Given the description of an element on the screen output the (x, y) to click on. 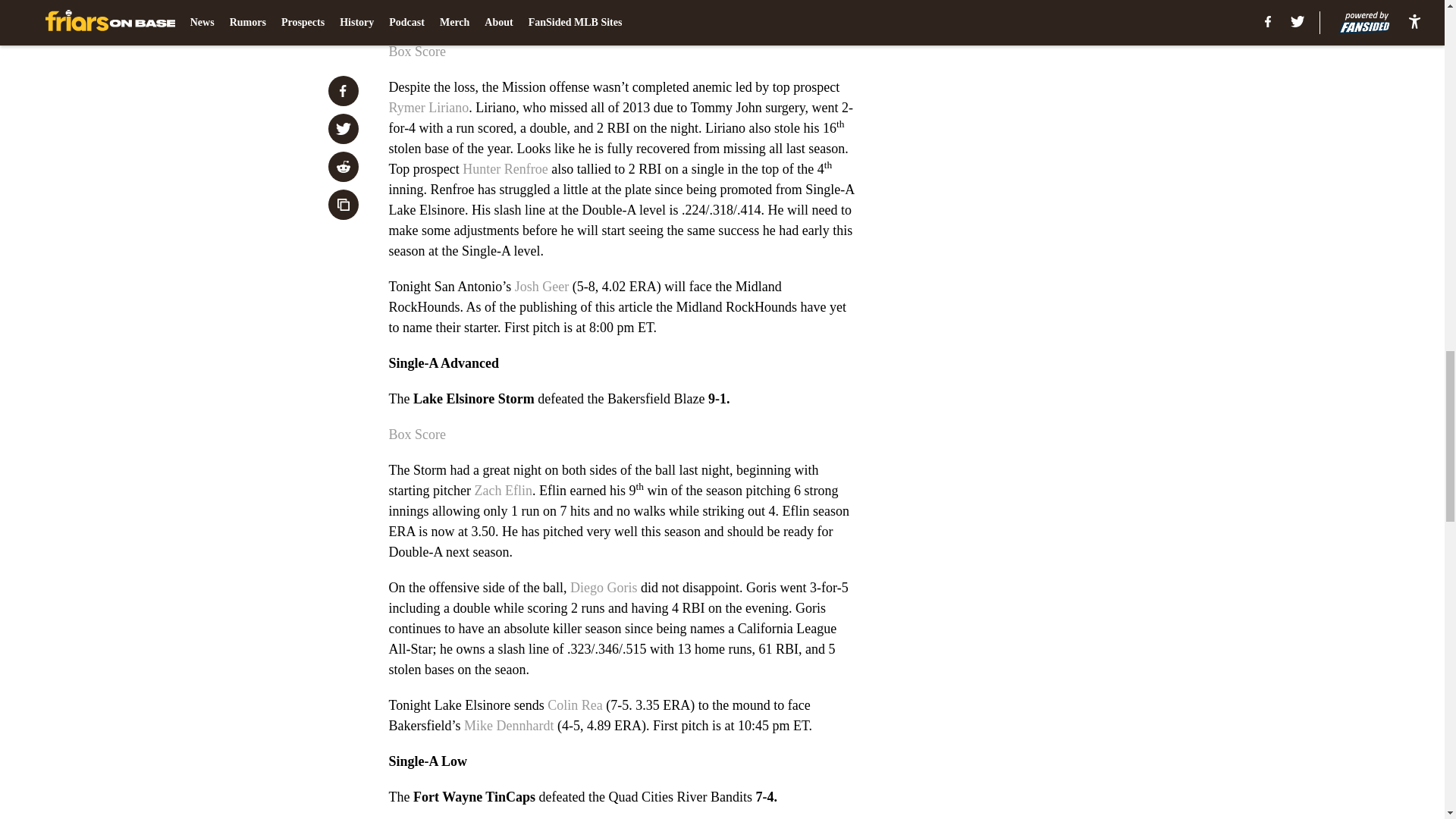
Box Score (416, 51)
Josh Geer (542, 286)
Zach Eflin (502, 490)
Rymer Liriano (428, 107)
Hunter Renfroe (505, 168)
Colin Rea (574, 704)
Box Score (416, 434)
Mike Dennhardt (508, 725)
Diego Goris (603, 587)
